Given the description of an element on the screen output the (x, y) to click on. 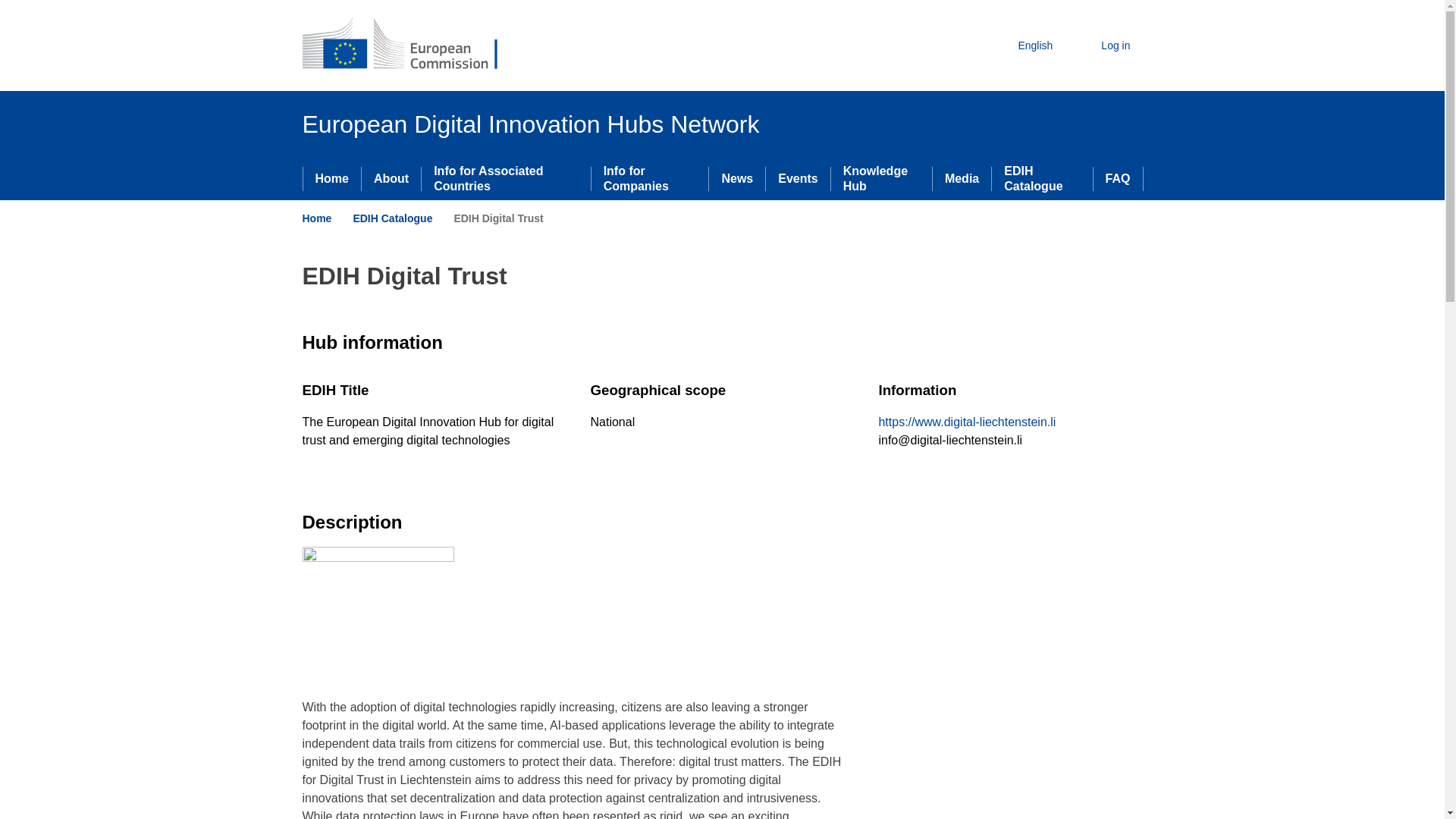
Info for Companies (650, 178)
Log in (1102, 45)
About (390, 178)
Info for Associated Countries (505, 178)
EDIH Catalogue (1041, 178)
Media (962, 178)
EDIH Catalogue (392, 218)
News (737, 178)
English (1022, 45)
Events (797, 178)
Skip to main content (6, 6)
European Commission (411, 45)
Home (331, 178)
Knowledge Hub (881, 178)
FAQ (1117, 178)
